Given the description of an element on the screen output the (x, y) to click on. 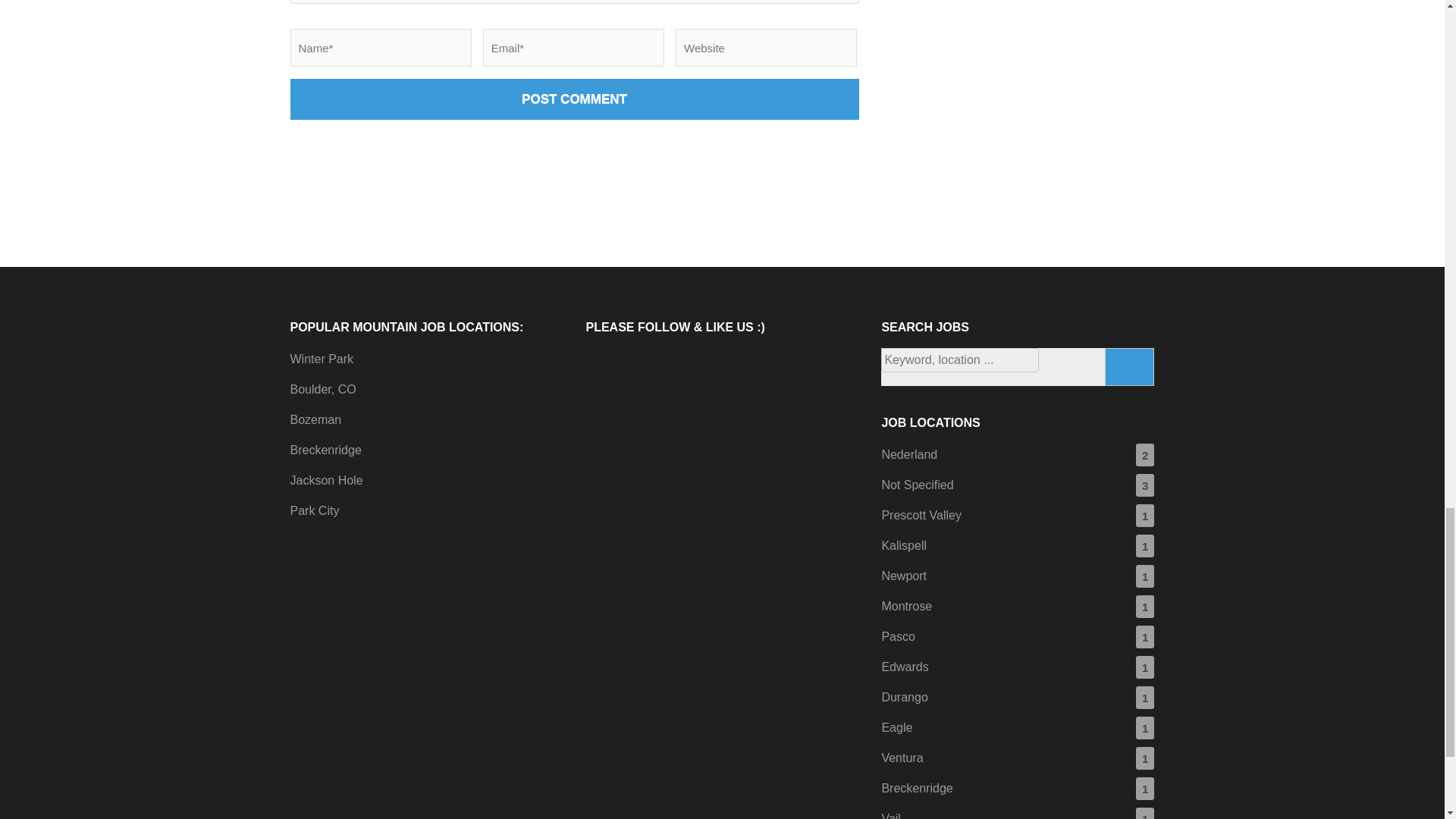
Facebook (603, 366)
Search (1129, 366)
Post Comment (574, 98)
